Given the description of an element on the screen output the (x, y) to click on. 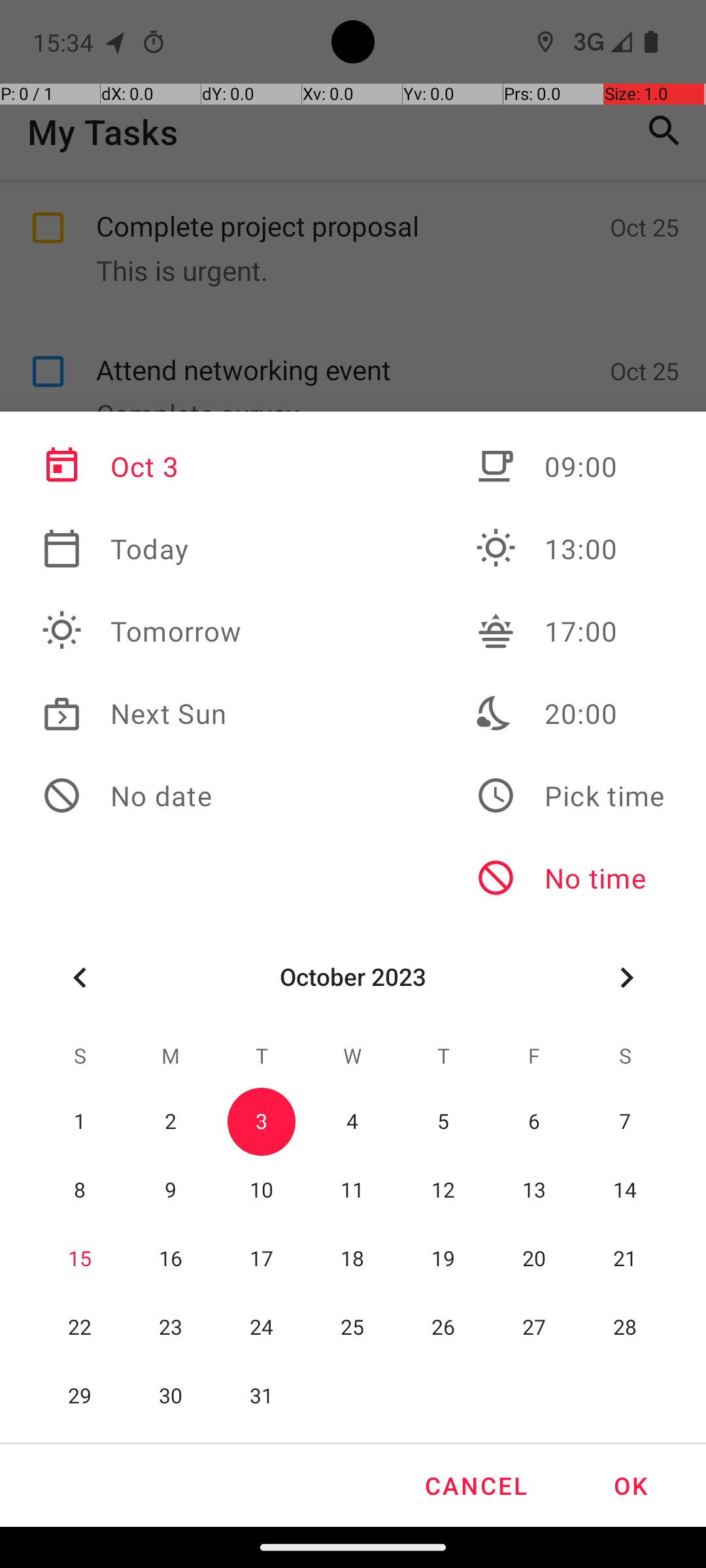
Oct 3 Element type: android.widget.CompoundButton (141, 466)
